Given the description of an element on the screen output the (x, y) to click on. 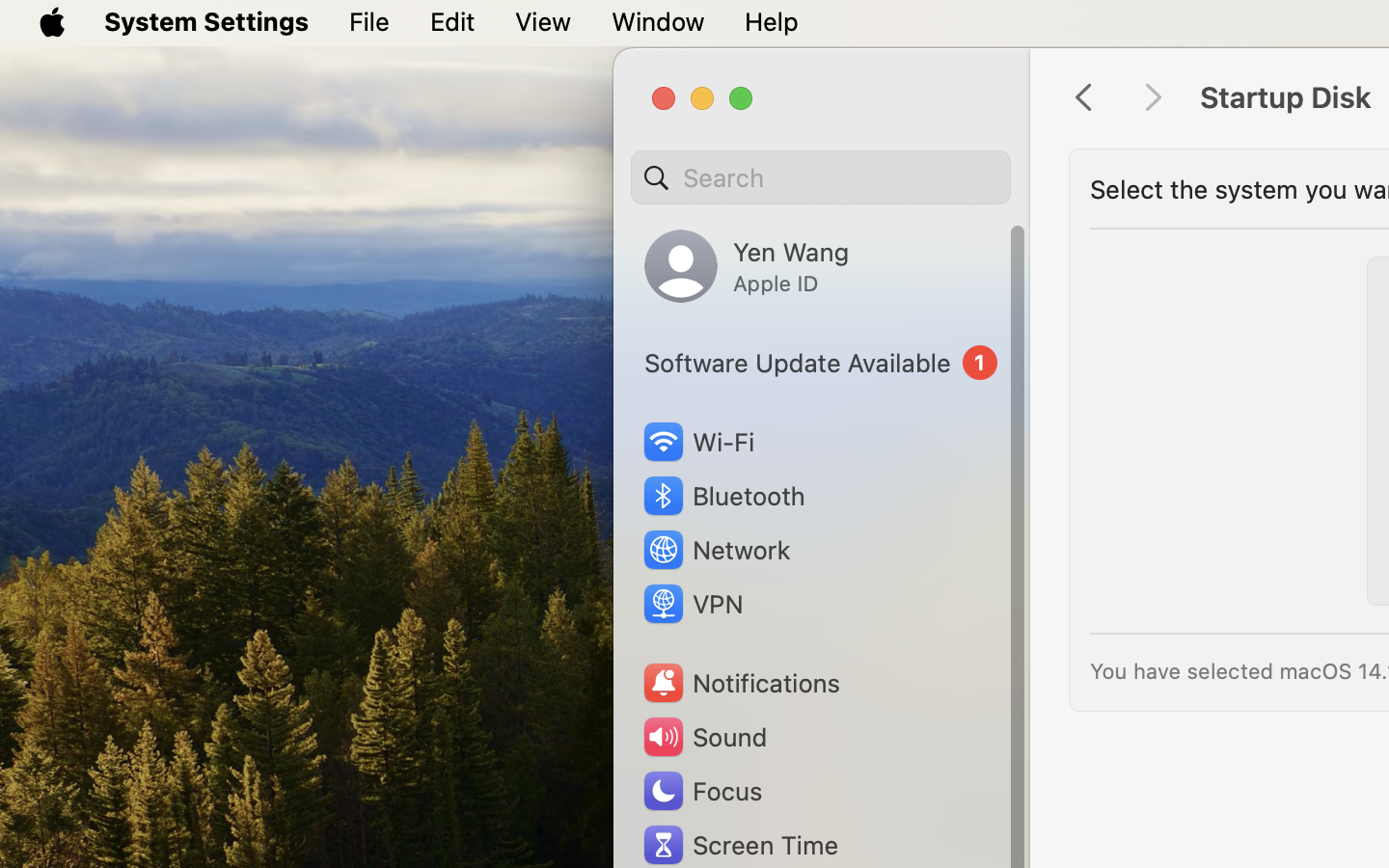
1 Element type: AXStaticText (820, 362)
Focus Element type: AXStaticText (701, 790)
Wi‑Fi Element type: AXStaticText (697, 441)
Network Element type: AXStaticText (715, 549)
Sound Element type: AXStaticText (703, 736)
